Given the description of an element on the screen output the (x, y) to click on. 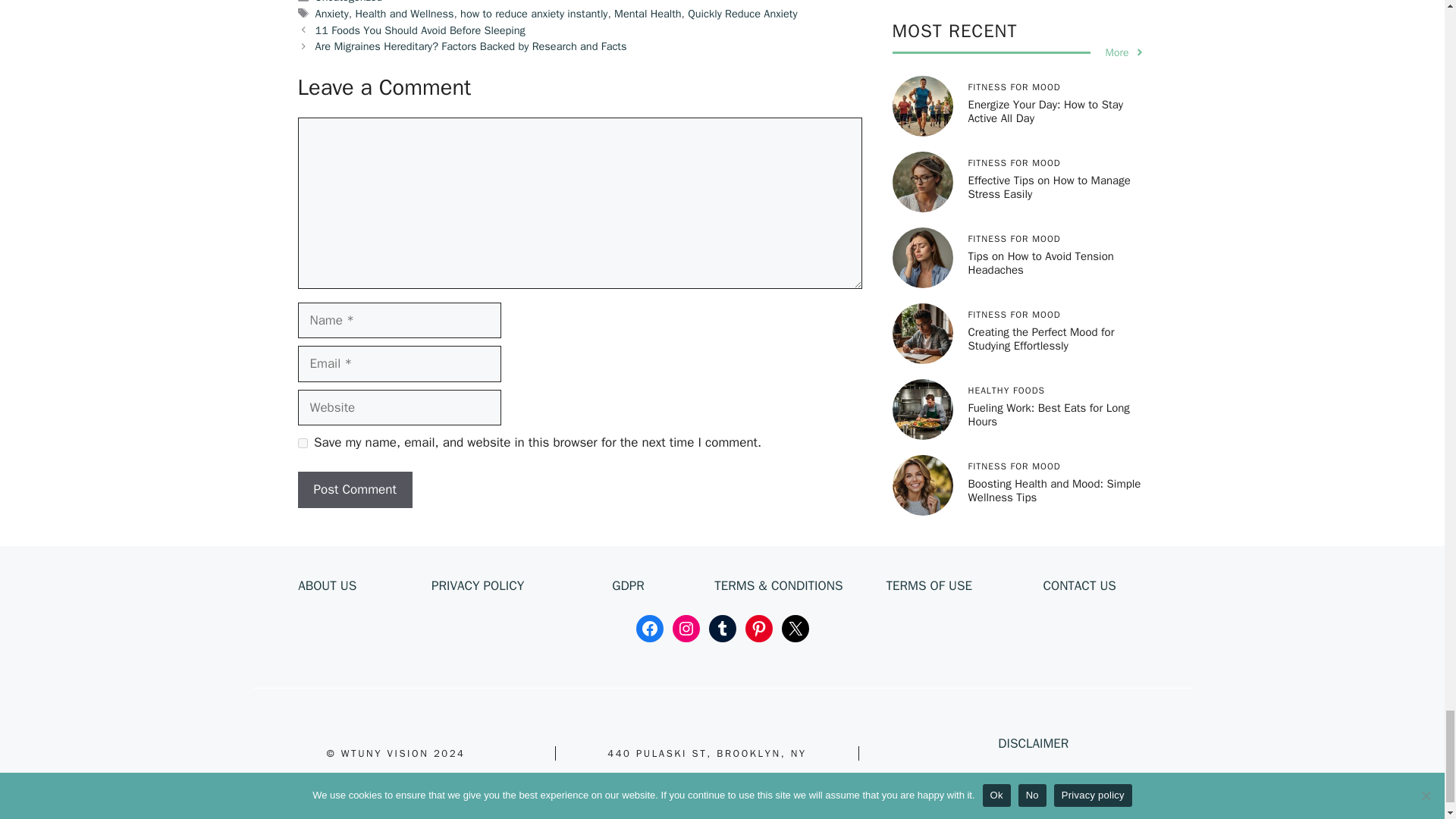
11 Foods You Should Avoid Before Sleeping (420, 29)
how to reduce anxiety instantly (533, 13)
Quickly Reduce Anxiety (741, 13)
yes (302, 442)
Post Comment (354, 489)
Health and Wellness (403, 13)
Anxiety (332, 13)
Uncategorized (348, 2)
Mental Health (647, 13)
